Given the description of an element on the screen output the (x, y) to click on. 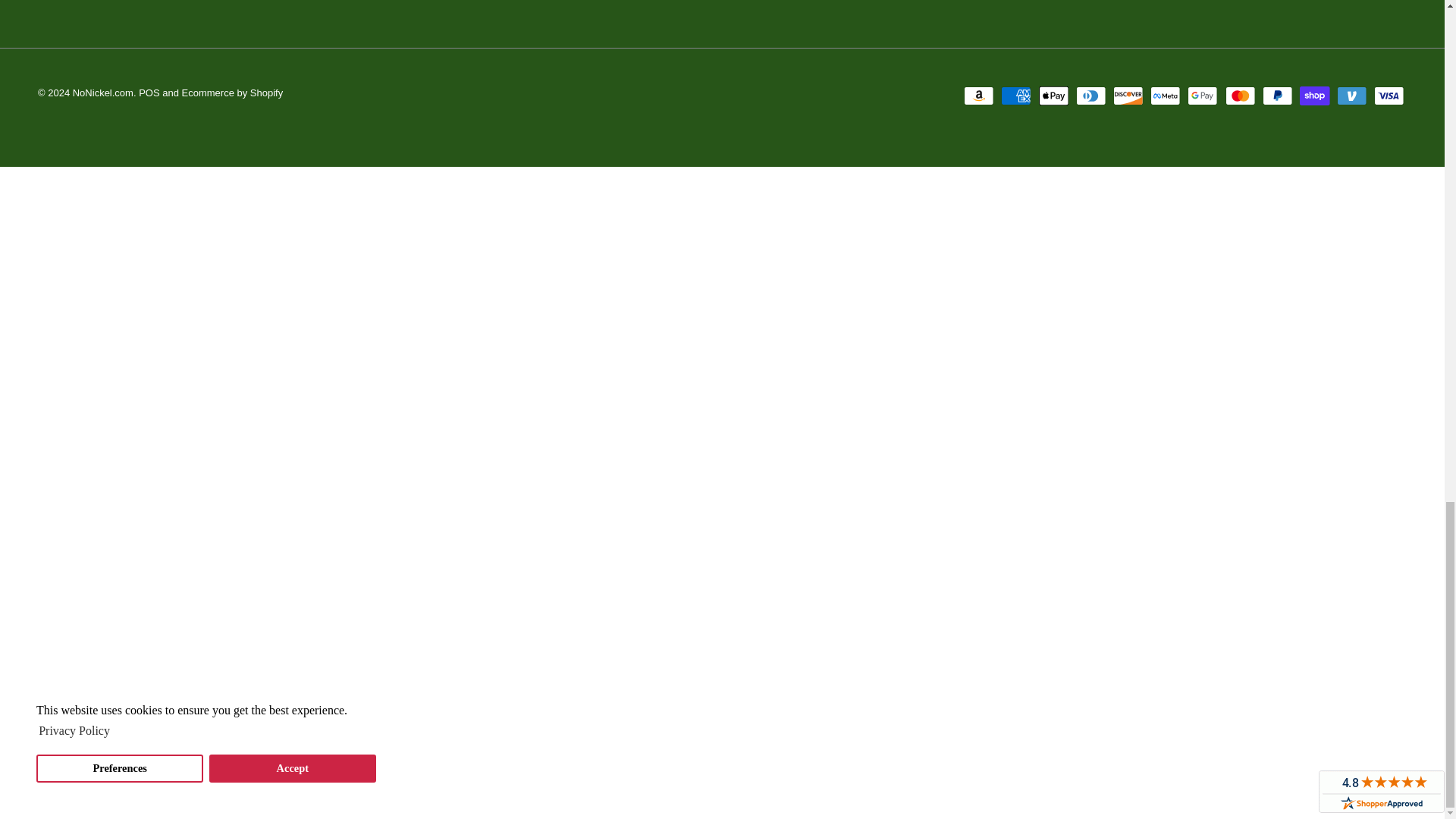
Amazon (978, 95)
Apple Pay (1053, 95)
American Express (1015, 95)
